Given the description of an element on the screen output the (x, y) to click on. 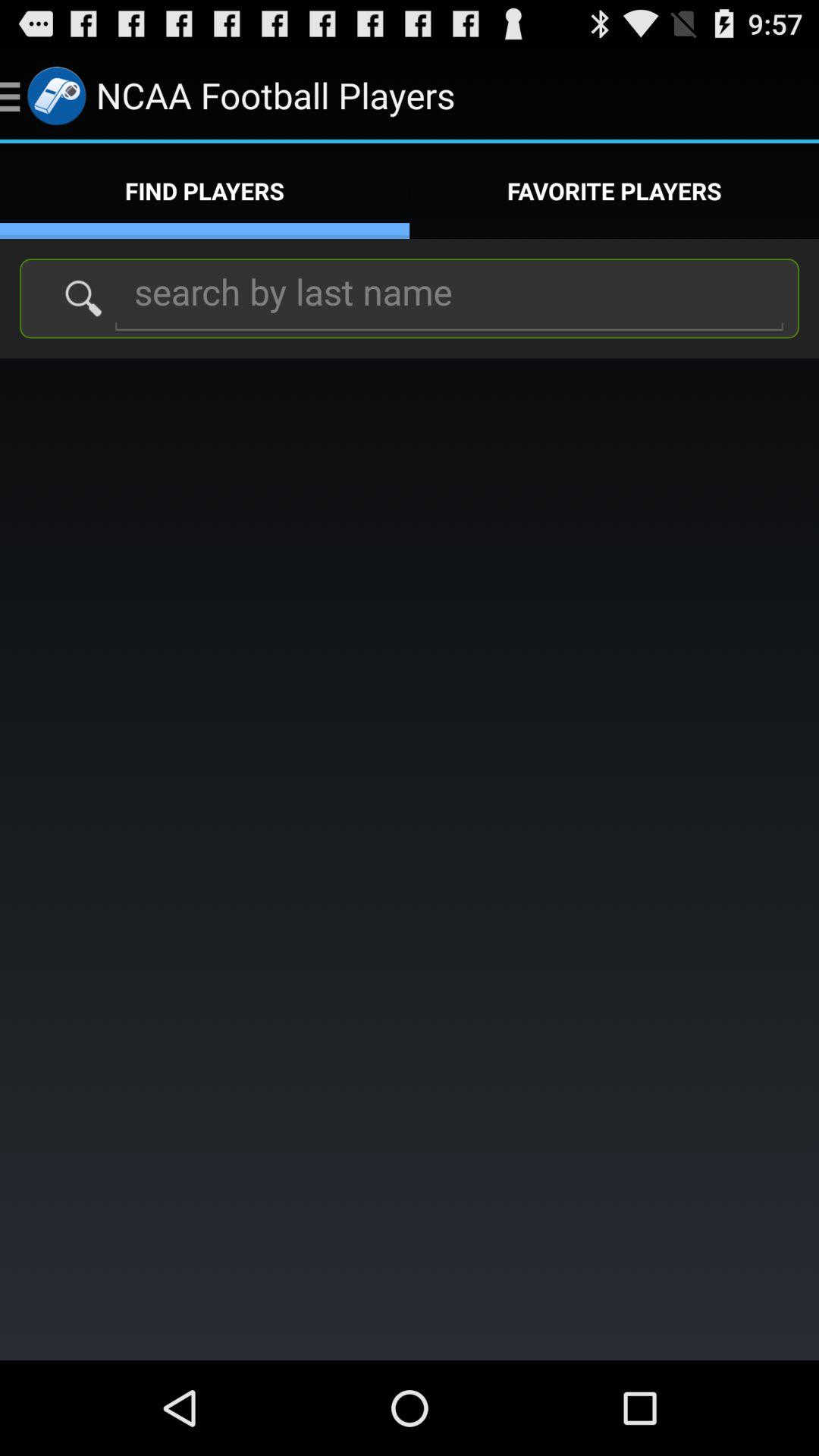
turn on favorite players app (614, 190)
